Given the description of an element on the screen output the (x, y) to click on. 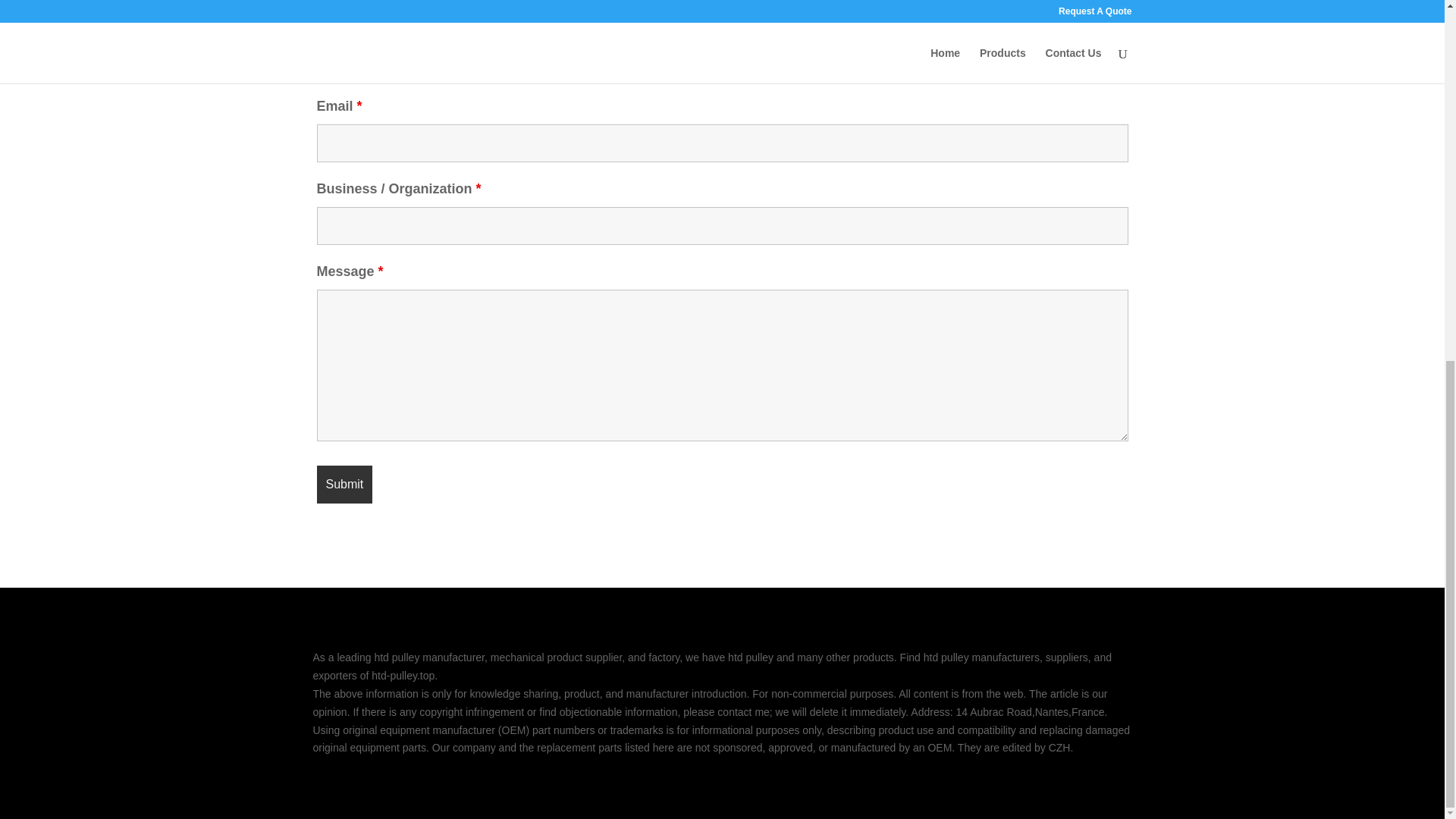
Submit (344, 484)
Submit (344, 484)
